Given the description of an element on the screen output the (x, y) to click on. 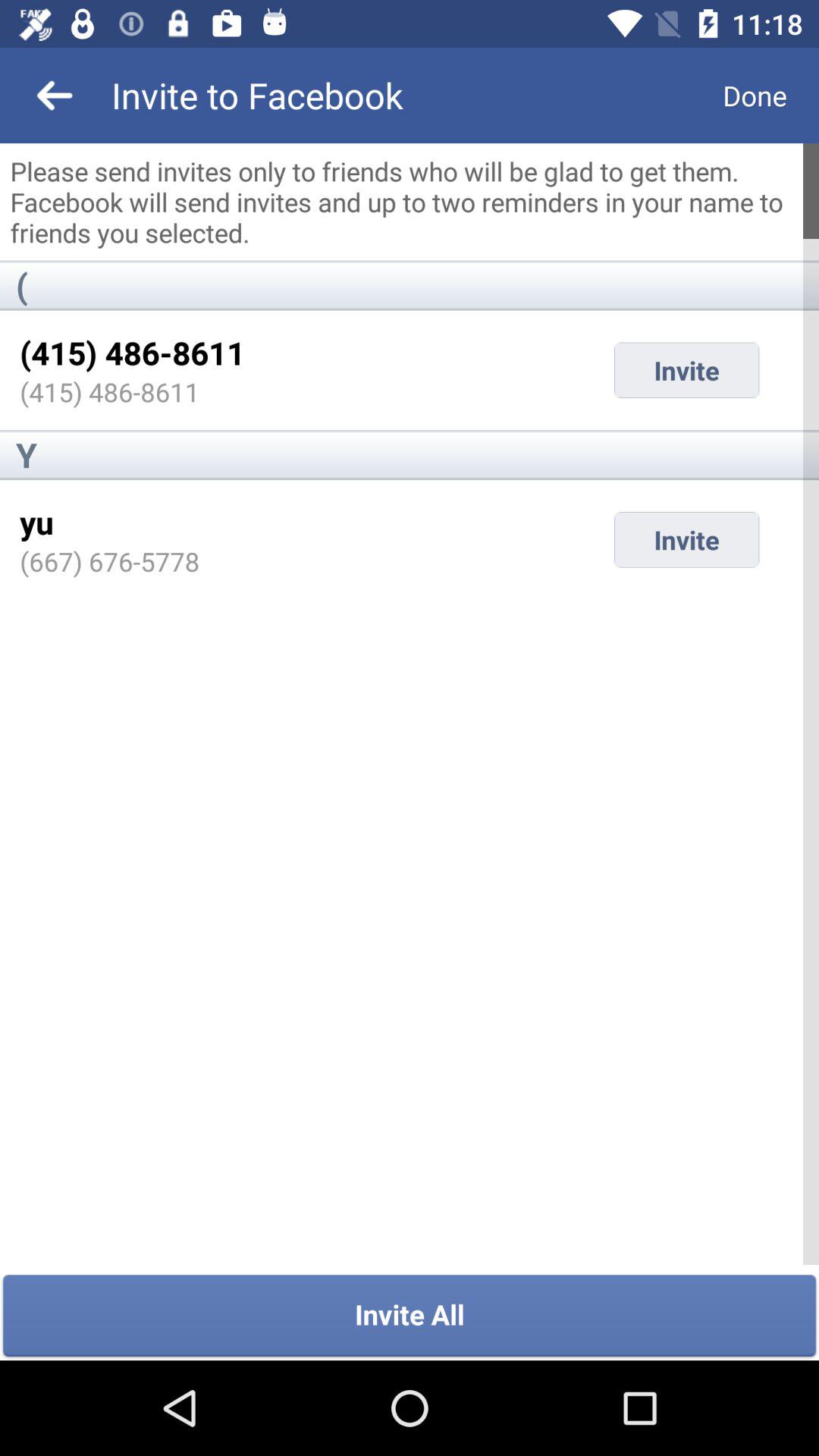
flip until the (667) 676-5778 item (109, 560)
